Given the description of an element on the screen output the (x, y) to click on. 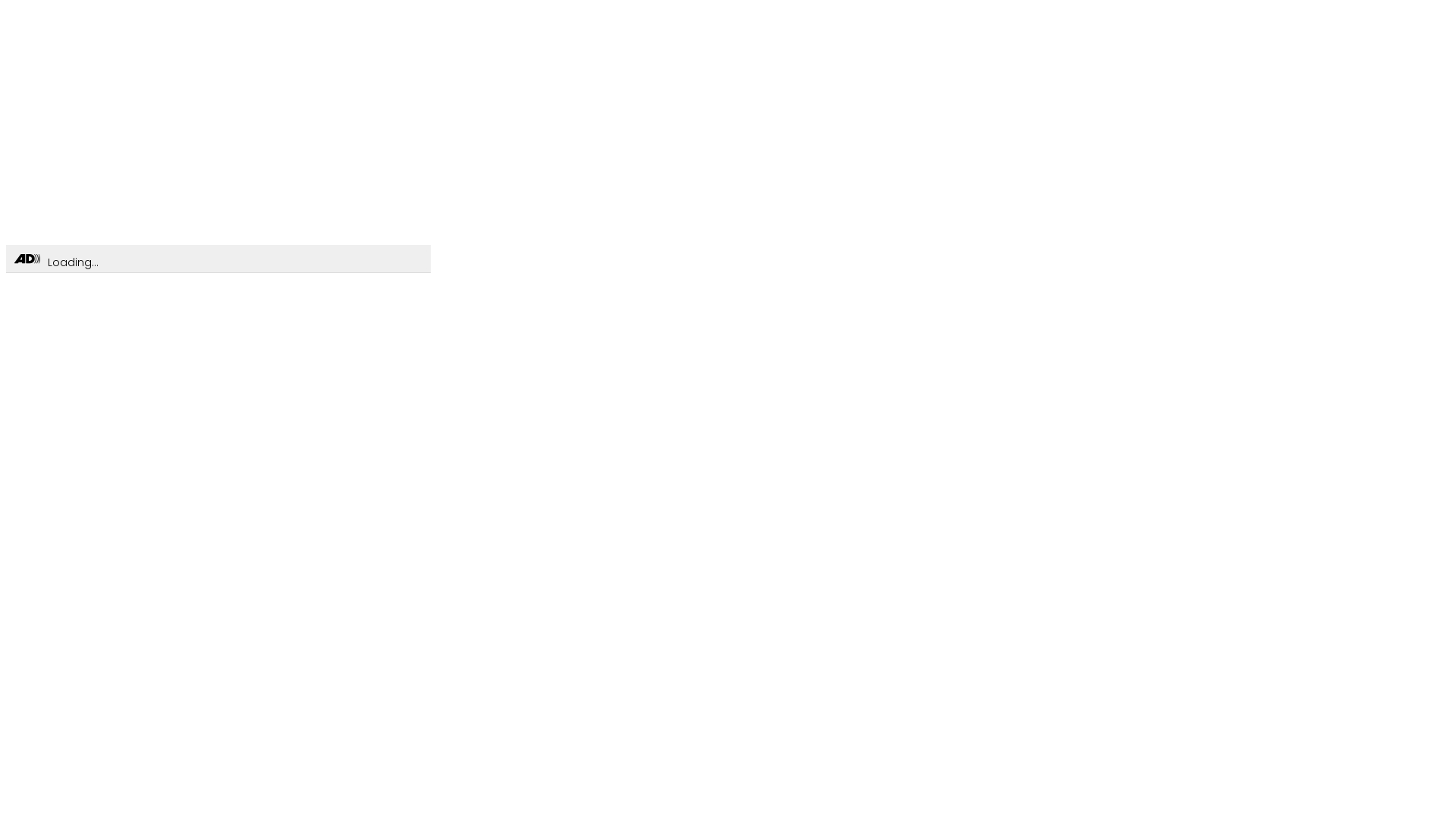
Audio Description Widget Element type: hover (27, 259)
